Given the description of an element on the screen output the (x, y) to click on. 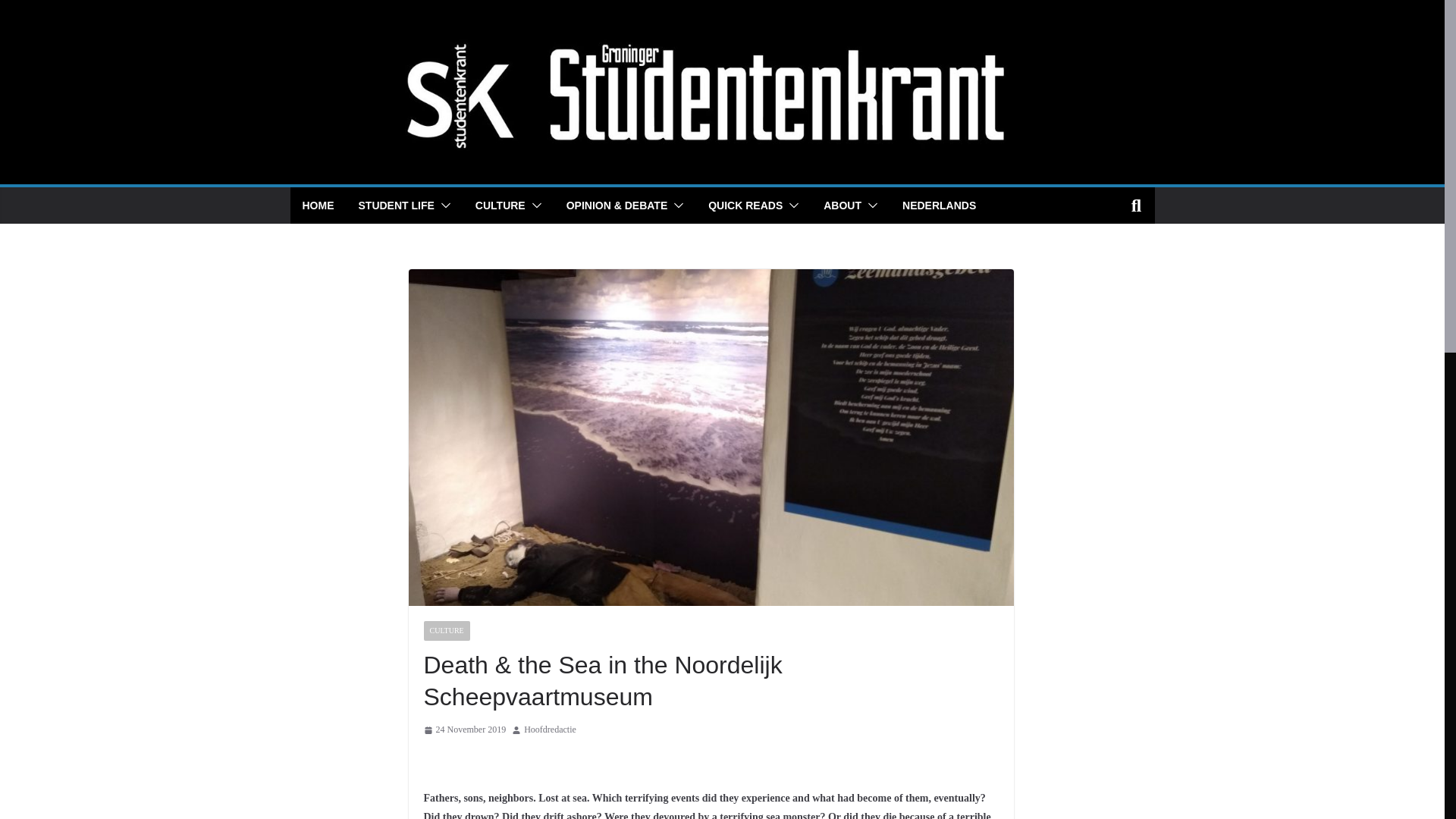
24 November 2019 (464, 729)
CULTURE (445, 630)
HOME (317, 205)
CULTURE (500, 205)
QUICK READS (745, 205)
STUDENT LIFE (395, 205)
ABOUT (842, 205)
Hoofdredactie (550, 729)
Hoofdredactie (550, 729)
NEDERLANDS (938, 205)
